Given the description of an element on the screen output the (x, y) to click on. 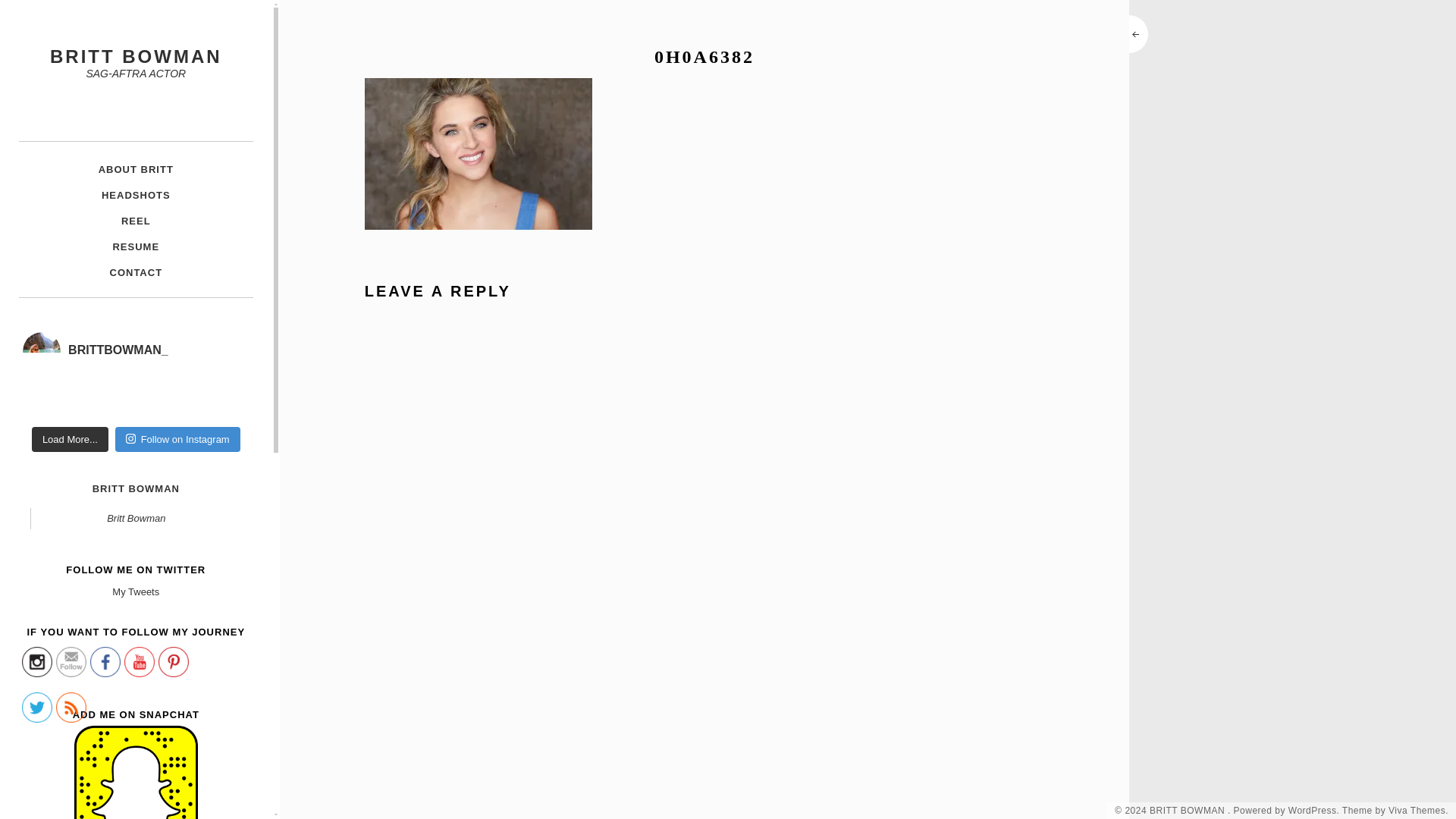
Instagram (36, 662)
Pinterest (173, 662)
RESUME (134, 247)
CONTACT (134, 272)
BRITT BOWMAN (134, 56)
Twitter (36, 707)
My Tweets (135, 591)
Facebook (105, 662)
Follow on Instagram (177, 439)
Britt Bowman (135, 518)
Follow by Email (70, 662)
YouTube (138, 662)
HEADSHOTS (134, 195)
RSS (70, 707)
ABOUT BRITT (134, 169)
